Given the description of an element on the screen output the (x, y) to click on. 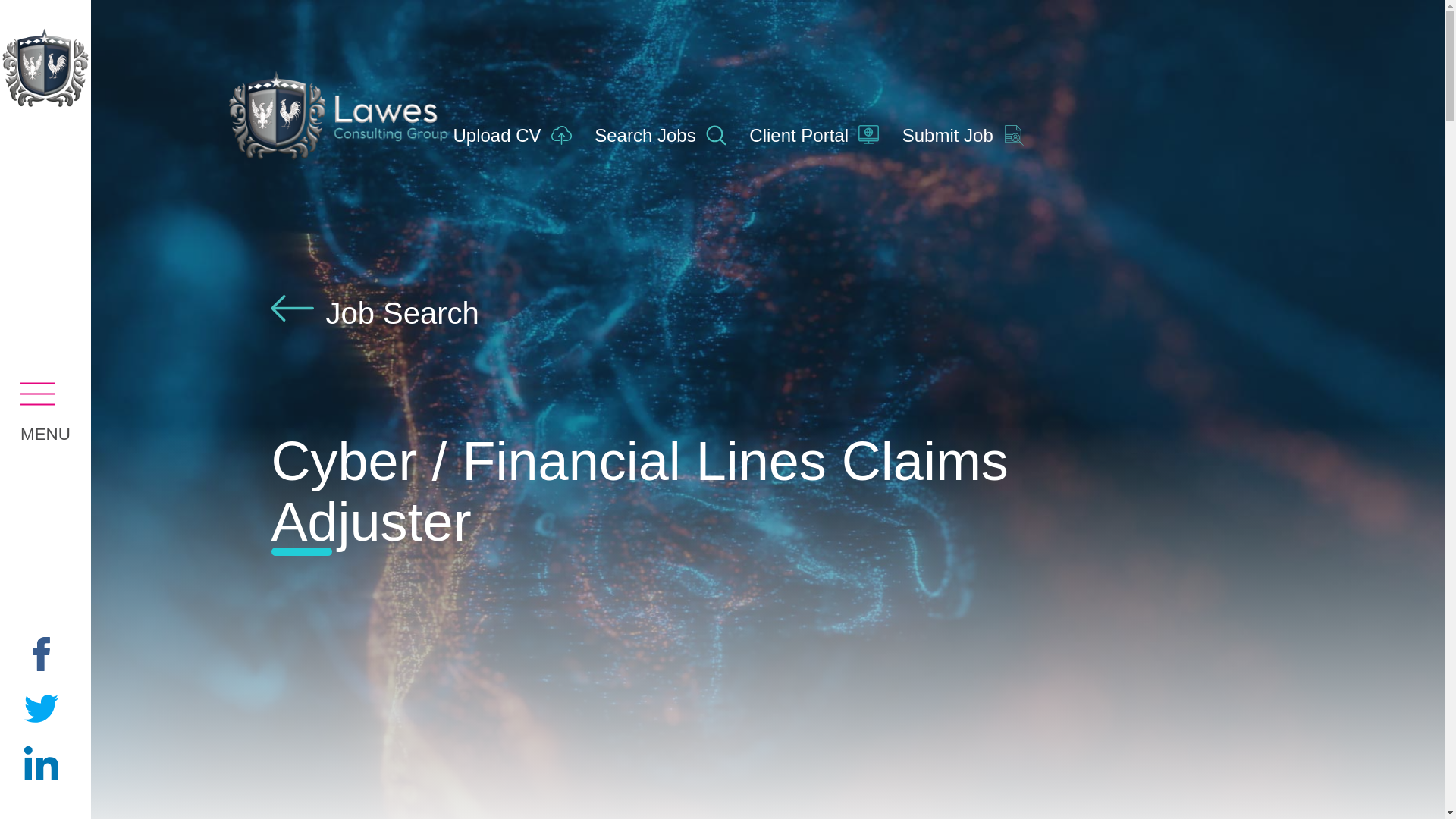
Job Search (374, 313)
Search Jobs (665, 135)
Terms and Conditions (434, 663)
Privacy Policy (233, 663)
Upload CV (517, 135)
Client Portal (819, 135)
0203 411 8430 (1179, 499)
Submit Job (968, 135)
